Given the description of an element on the screen output the (x, y) to click on. 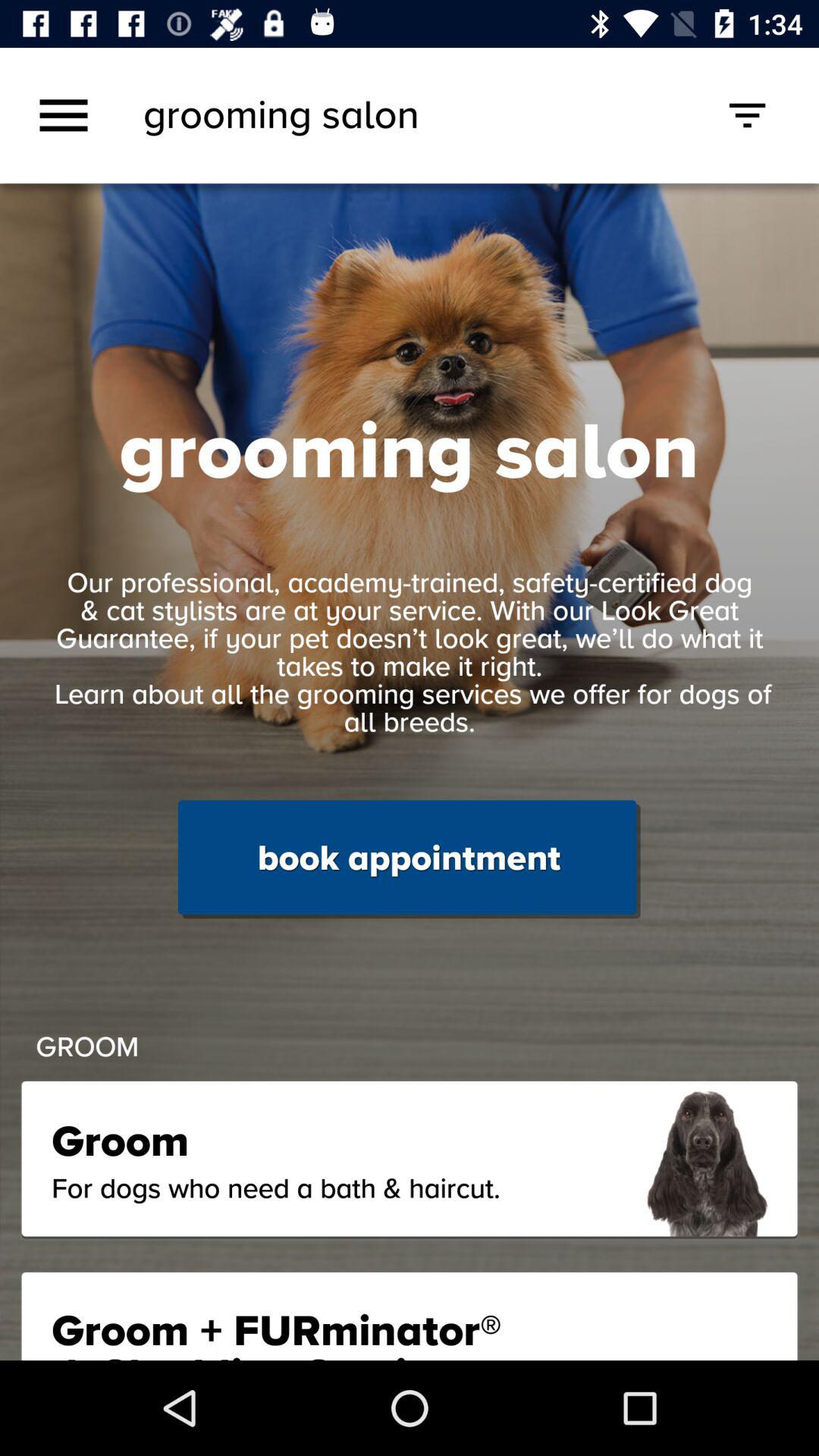
press the item next to grooming salon (63, 115)
